Given the description of an element on the screen output the (x, y) to click on. 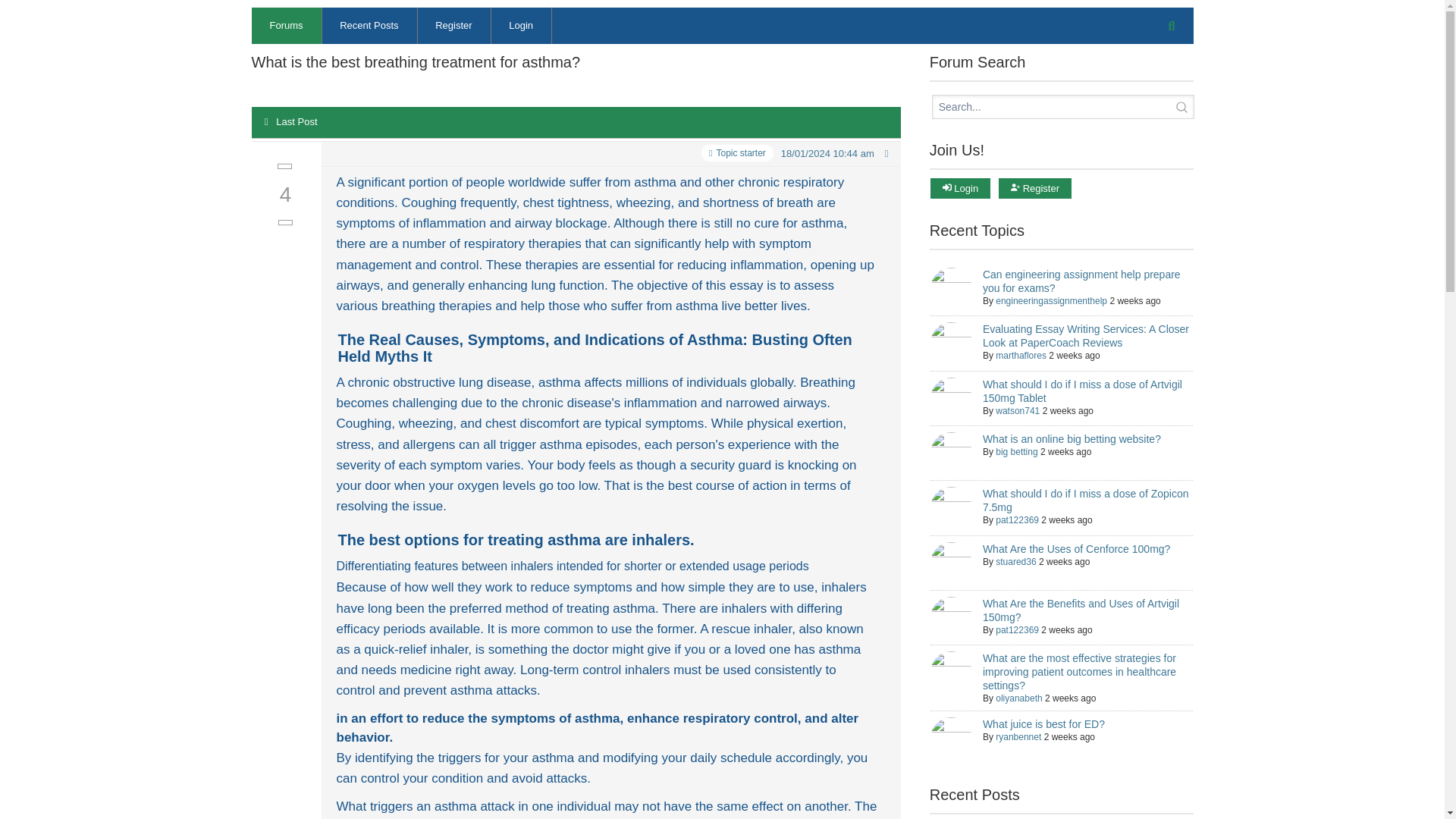
What juice is best for ED? (1043, 724)
stuared36 (1015, 561)
Can engineering assignment help prepare you for exams? (1081, 281)
Forums (286, 25)
What Are the Benefits and Uses of Artvigil 150mg? (1080, 610)
What is an online big betting website? (1071, 439)
Login (520, 25)
big betting (1015, 451)
ryanbennet (1018, 737)
Recent Posts (368, 25)
marthaflores (1020, 355)
pat122369 (1017, 629)
Login (960, 188)
engineeringassignmenthelp (1050, 300)
